Given the description of an element on the screen output the (x, y) to click on. 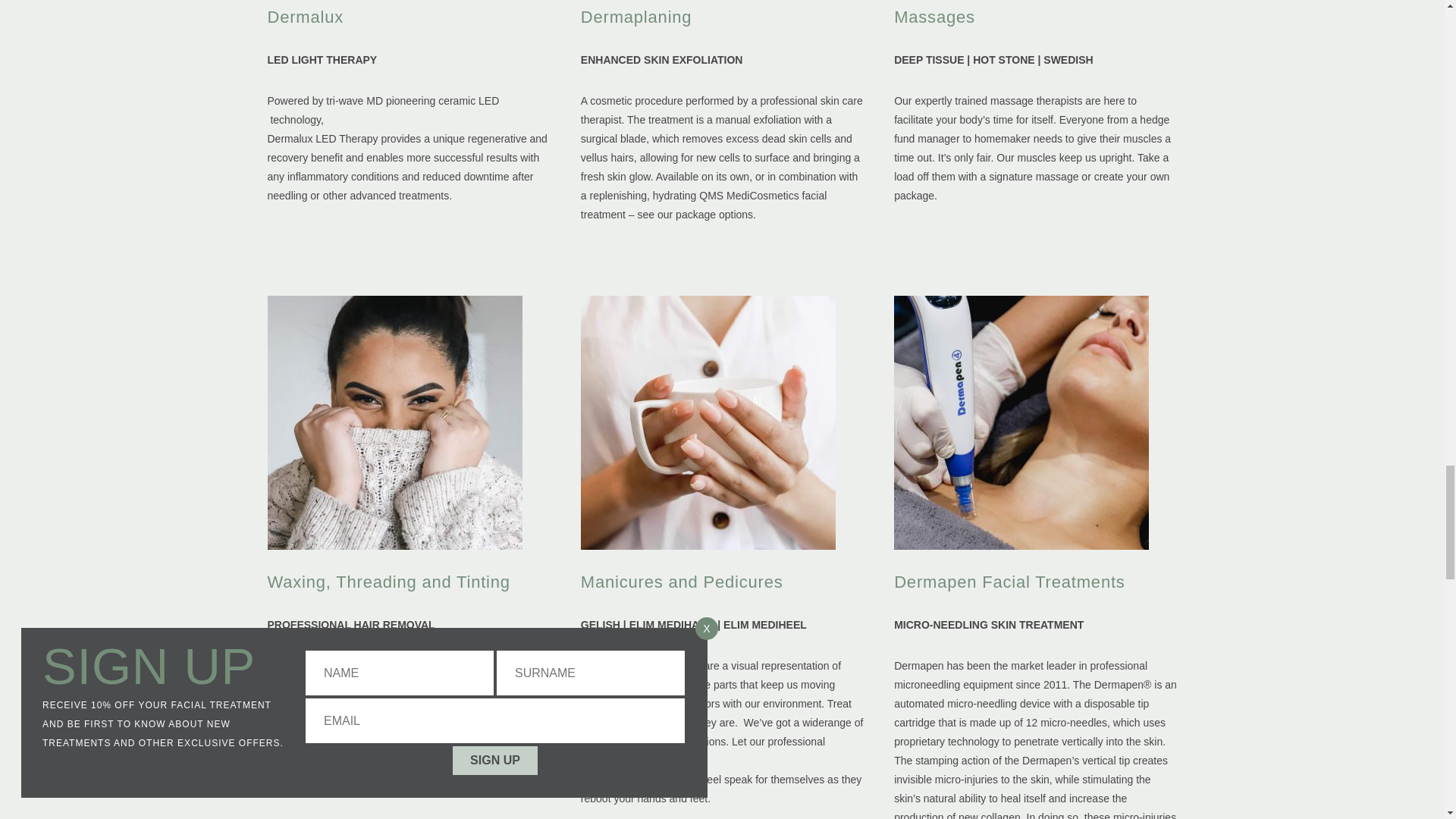
Powered by tri-wave MD pioneering ceramic LED  technology, (321, 34)
Dermalux LED Therapy (408, 110)
